Given the description of an element on the screen output the (x, y) to click on. 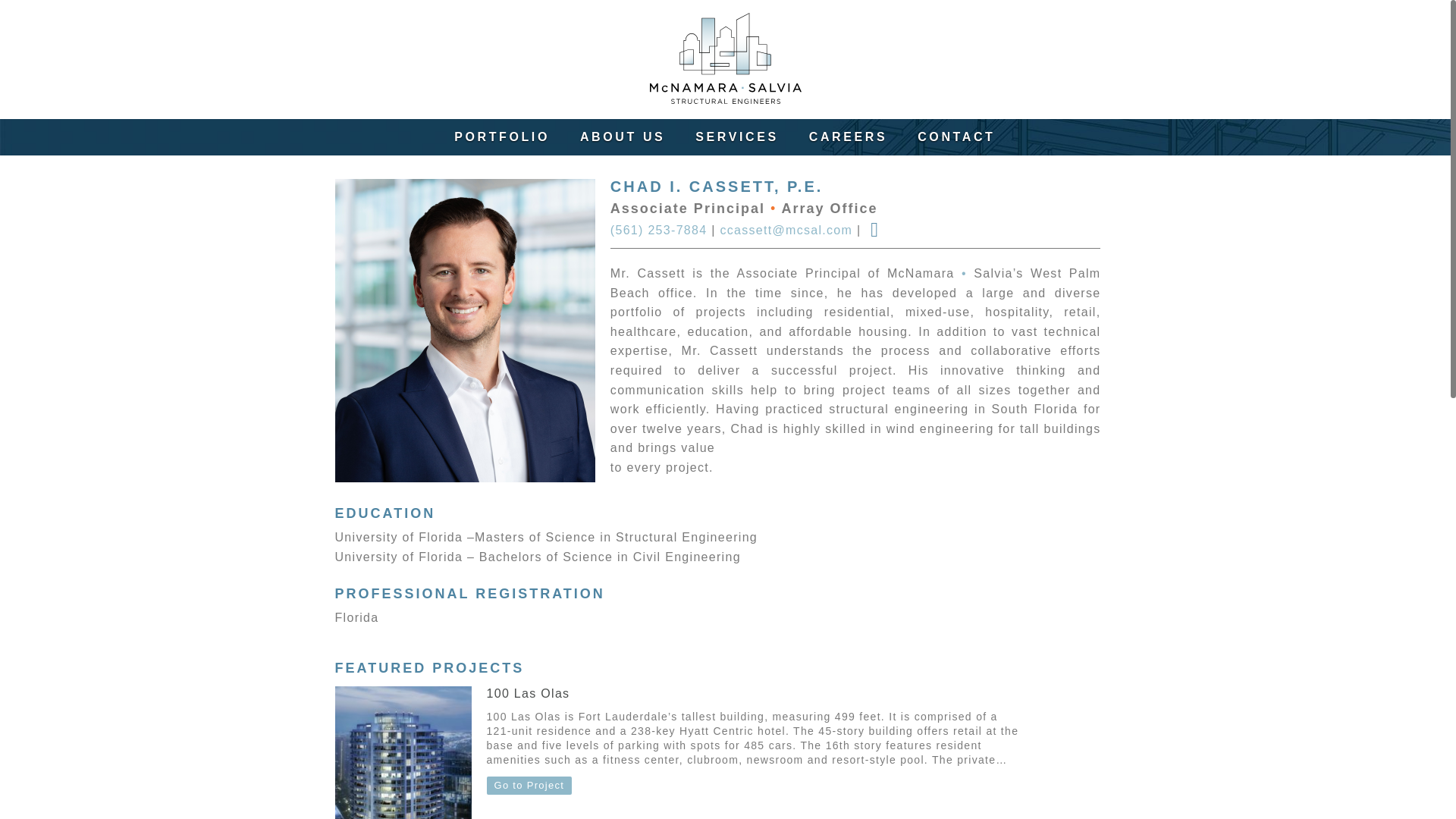
CONTACT (956, 136)
CAREERS (847, 136)
PORTFOLIO (501, 136)
100 Las Olas (528, 693)
ABOUT US (621, 136)
SERVICES (736, 136)
Go to Project (529, 785)
100 Las Olas (402, 752)
